Given the description of an element on the screen output the (x, y) to click on. 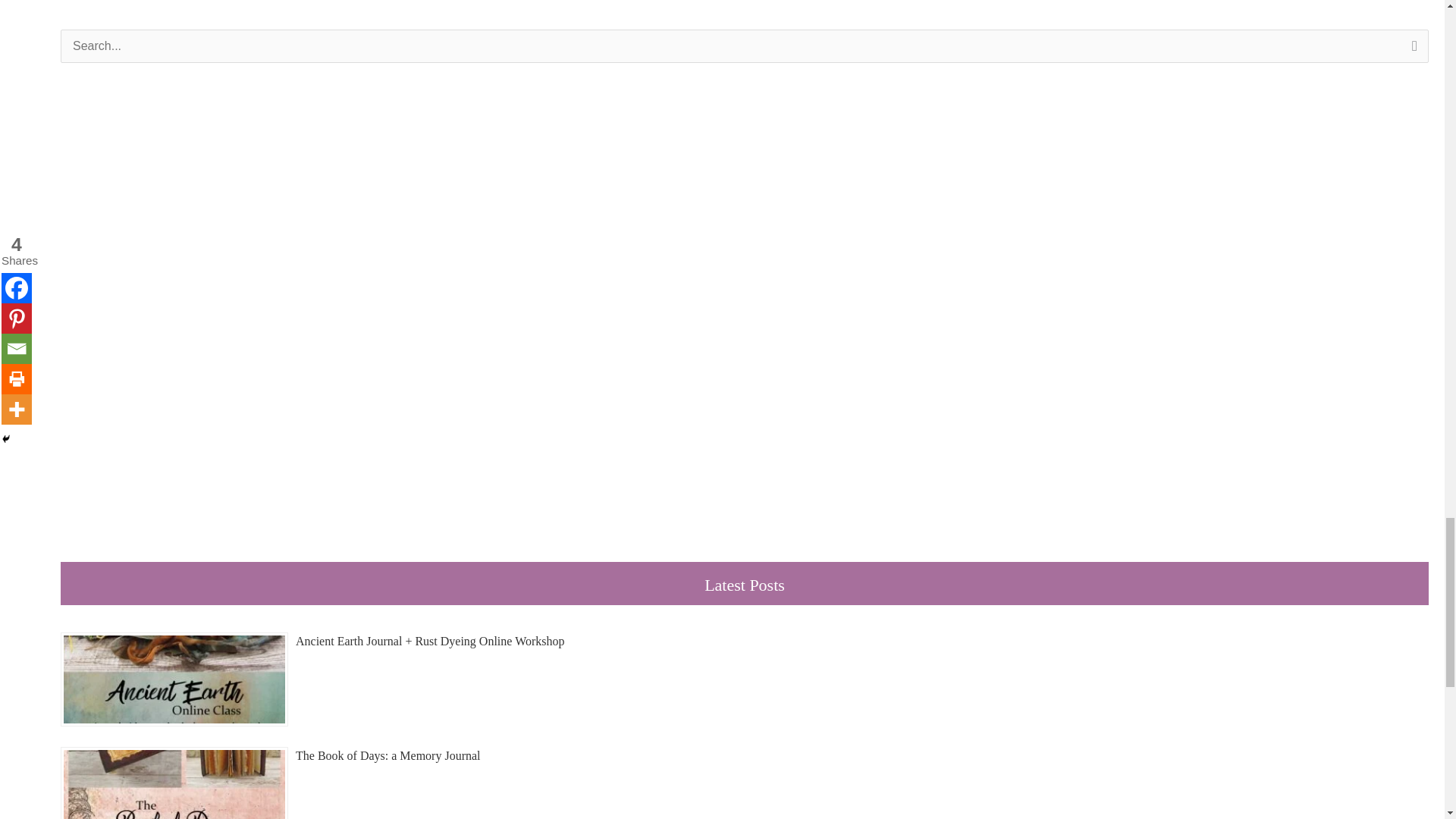
The Book of Days: a Memory Journal (387, 755)
